Given the description of an element on the screen output the (x, y) to click on. 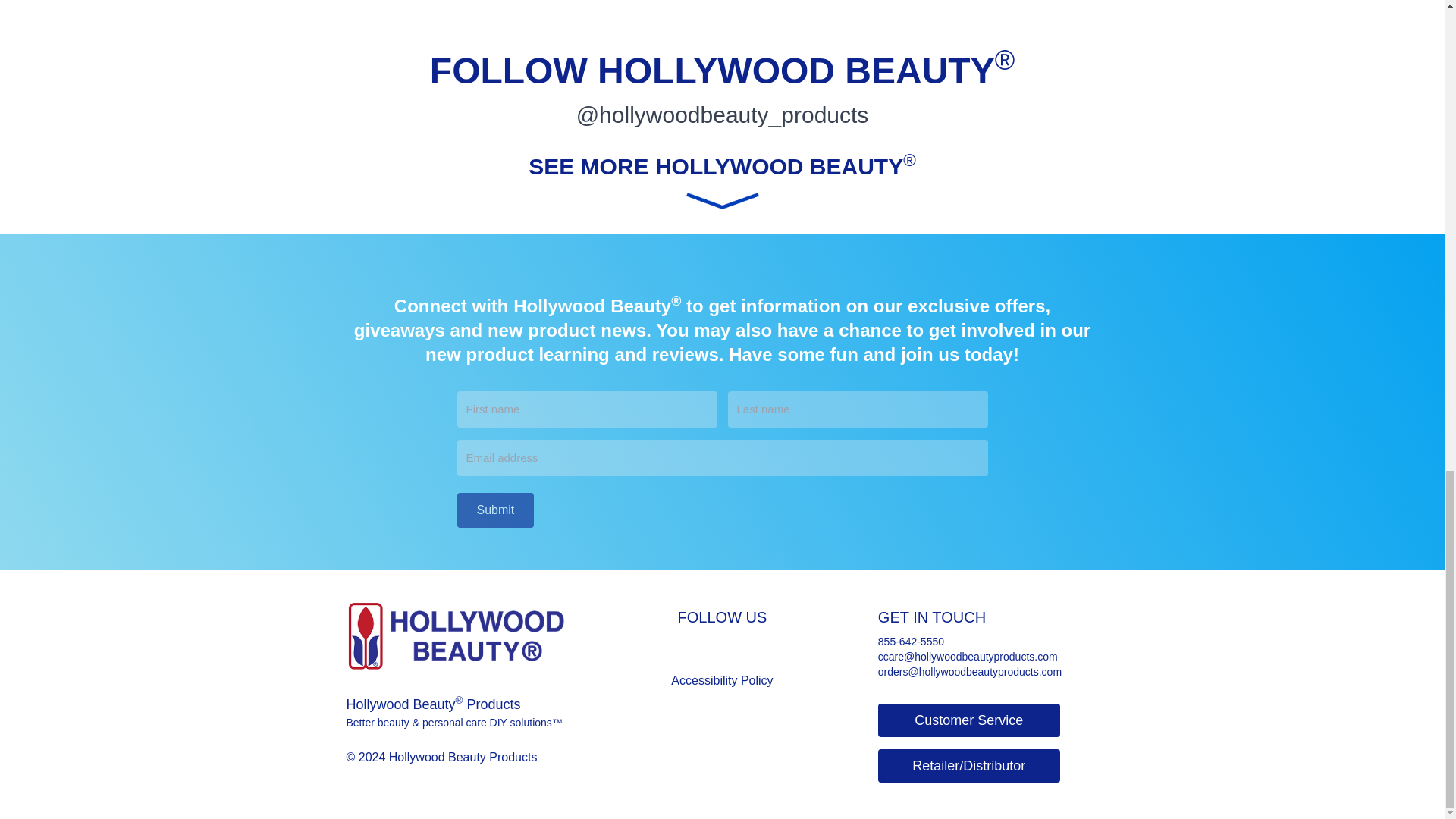
Submit (495, 510)
Customer Service (968, 720)
Submit (495, 510)
Accessibility Policy (722, 680)
855-642-5550 (988, 641)
